Given the description of an element on the screen output the (x, y) to click on. 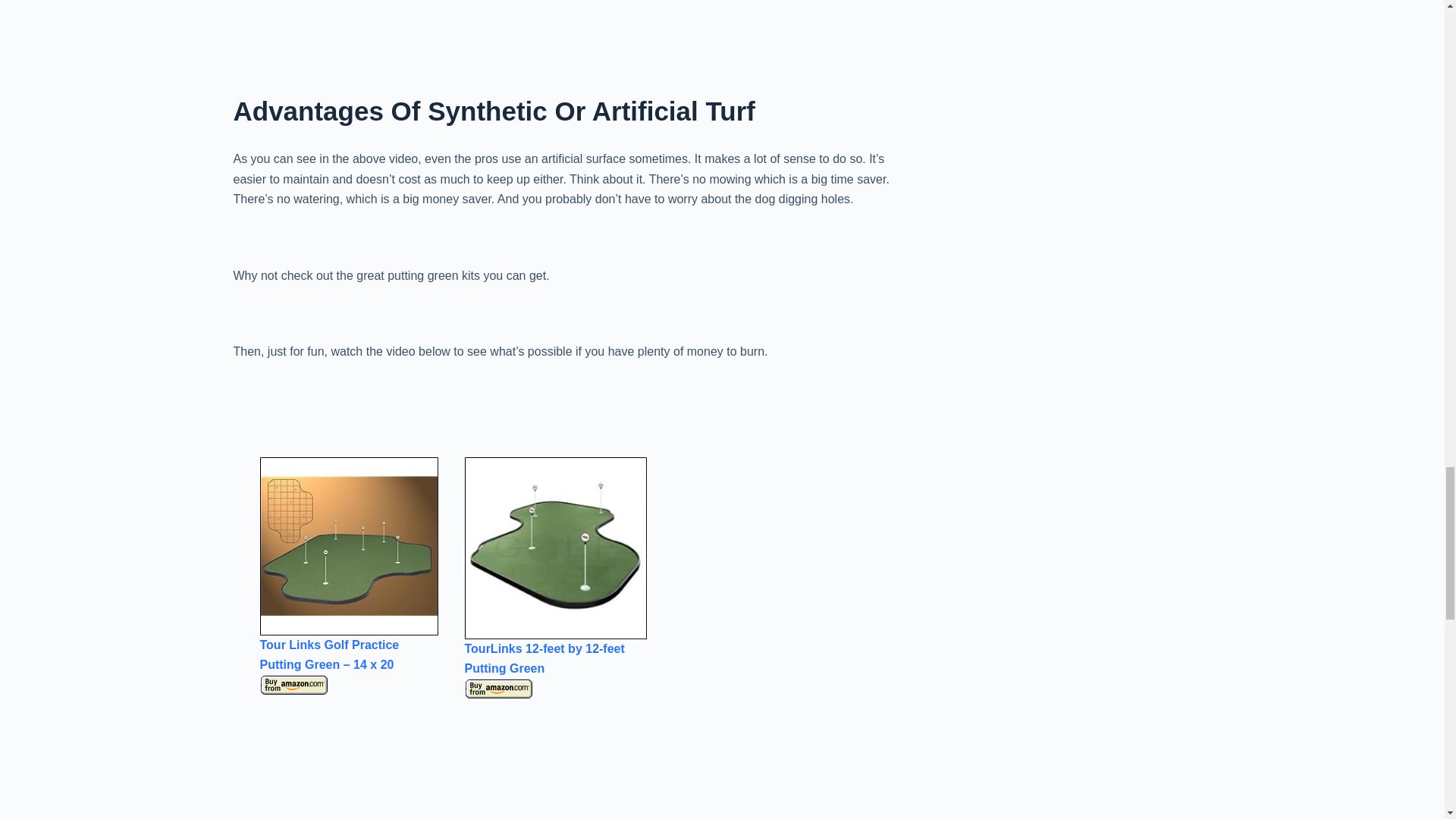
Backyard Putting Green (293, 685)
Backyard Putting Green (498, 689)
Backyard Putting Green (555, 548)
Backyard Putting Green (348, 546)
